Given the description of an element on the screen output the (x, y) to click on. 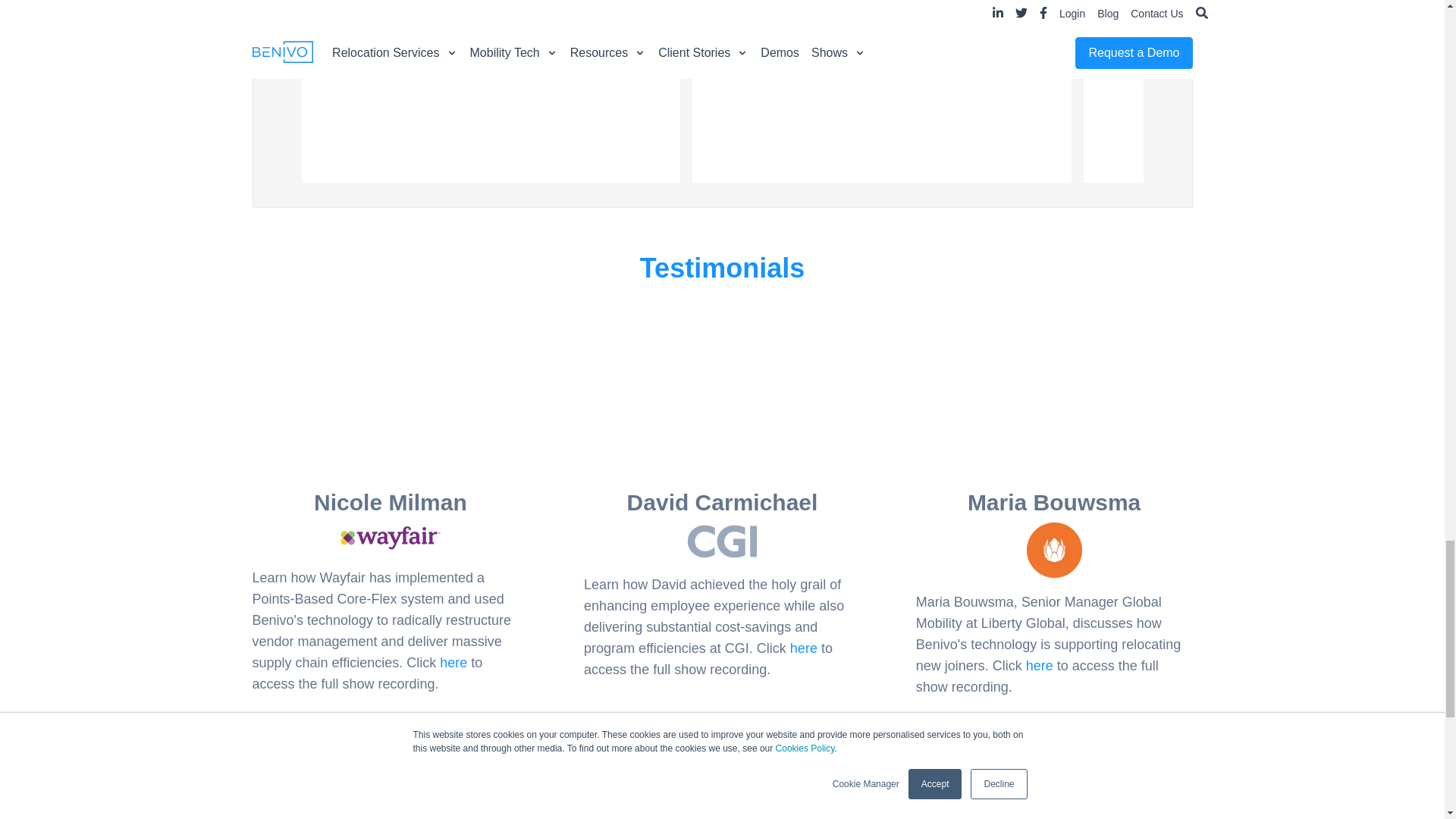
View All Client Stories (722, 760)
